Given the description of an element on the screen output the (x, y) to click on. 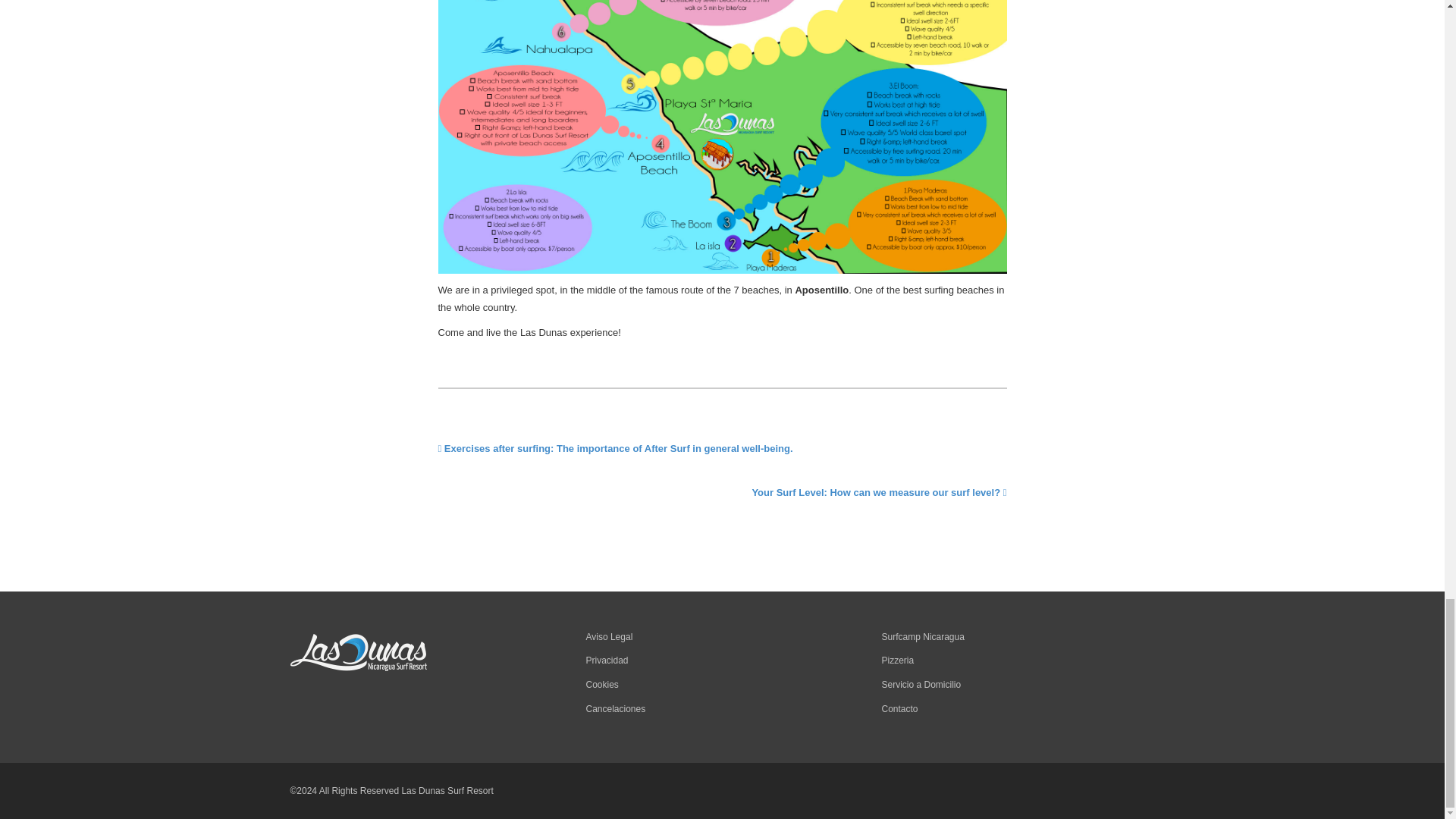
Contacto (898, 708)
Aviso Legal (608, 636)
Surfcamp Nicaragua (921, 636)
Cookies (601, 684)
Pizzeria (897, 660)
Privacidad (606, 660)
Cancelaciones (615, 708)
Surfcamp Nicaragua (921, 636)
Servicio a Domicilio (920, 684)
Your Surf Level: How can we measure our surf level? (878, 491)
